Given the description of an element on the screen output the (x, y) to click on. 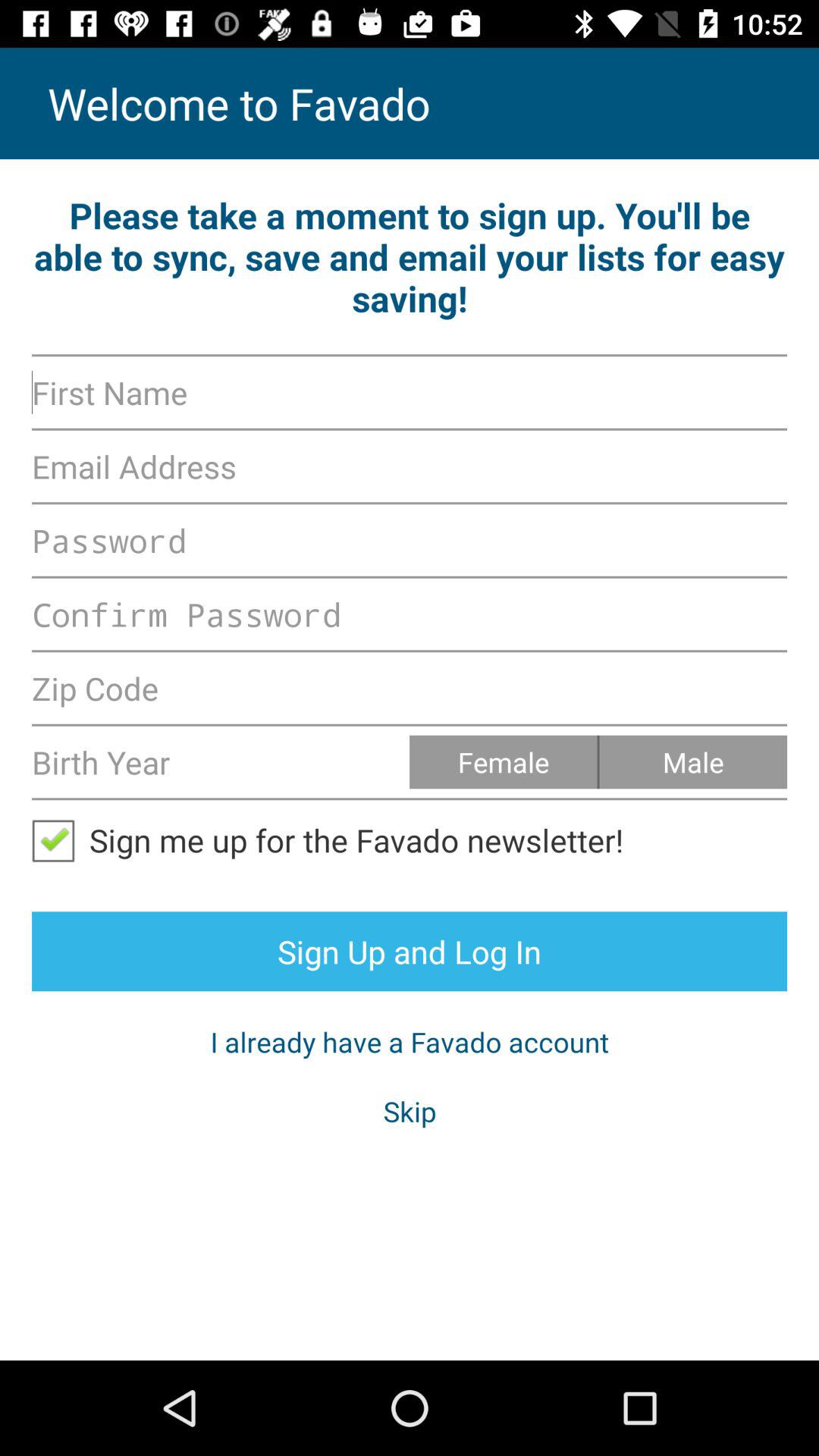
newsletter signup (60, 839)
